Given the description of an element on the screen output the (x, y) to click on. 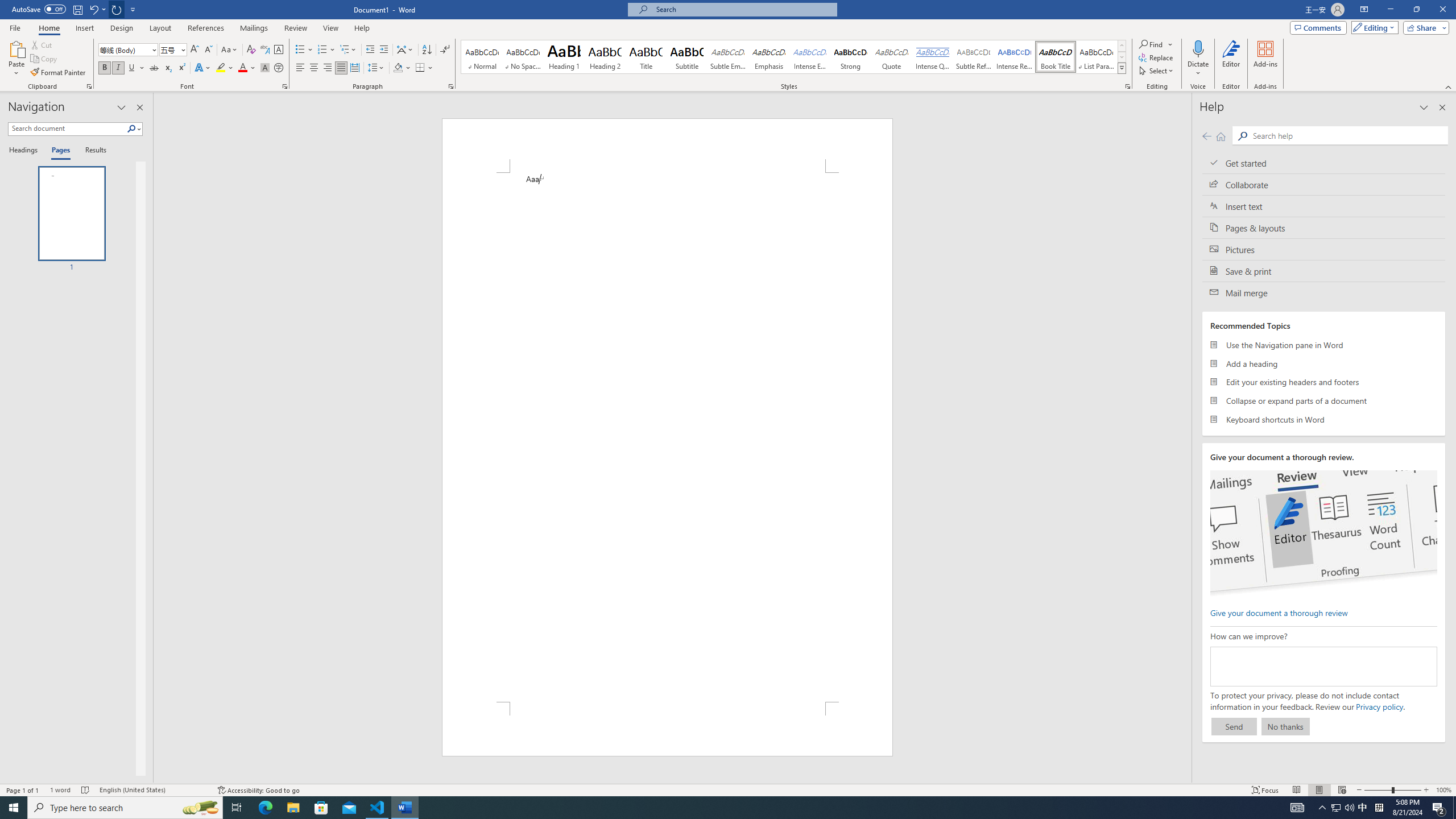
Font... (285, 85)
Superscript (180, 67)
Collapse or expand parts of a document (1323, 400)
Quick Access Toolbar (74, 9)
Shading RGB(0, 0, 0) (397, 67)
Give your document a thorough review (1278, 611)
Numbering (326, 49)
Zoom 100% (1443, 790)
Insert text (1323, 206)
Heading 1 (564, 56)
Focus  (1265, 790)
Heading 2 (605, 56)
Save & print (1323, 270)
Accessibility Checker Accessibility: Good to go (258, 790)
Headings (25, 150)
